Given the description of an element on the screen output the (x, y) to click on. 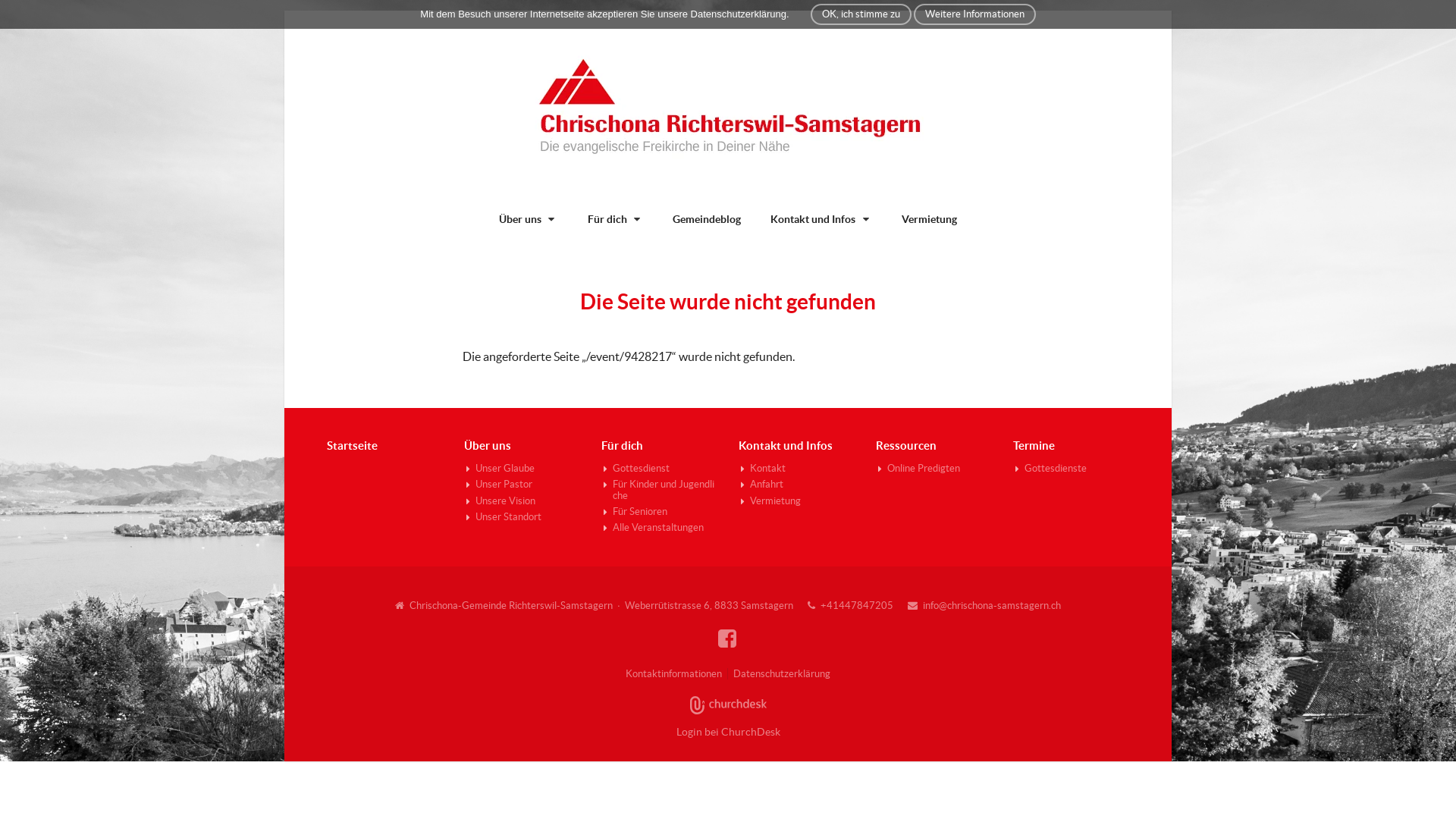
Unser Glaube Element type: text (522, 470)
Alle Veranstaltungen Element type: text (659, 527)
Gottesdienste Element type: text (1071, 469)
Startseite Element type: text (351, 445)
Kontakt und Infos Element type: text (820, 218)
Online Predigten Element type: text (933, 469)
Anfahrt Element type: text (796, 485)
Gottesdienst Element type: text (659, 470)
Vermietung Element type: text (796, 500)
Login bei ChurchDesk Element type: text (728, 732)
Direkt zum Inhalt Element type: text (40, 7)
Ressourcen Element type: text (905, 445)
Kontaktinformationen Element type: text (673, 673)
Unser Standort Element type: text (522, 516)
Unsere Vision Element type: text (522, 501)
Wir arbeiten mit ChurchDesk zusammen Element type: hover (728, 705)
Kontakt und Infos Element type: text (785, 445)
Vermietung Element type: text (928, 218)
Gemeindeblog Element type: text (706, 218)
Termine Element type: text (1033, 445)
Unser Pastor Element type: text (522, 485)
OK, ich stimme zu Element type: text (860, 14)
Weitere Informationen Element type: text (974, 14)
Kontakt Element type: text (796, 470)
Startseite Element type: hover (727, 107)
